Given the description of an element on the screen output the (x, y) to click on. 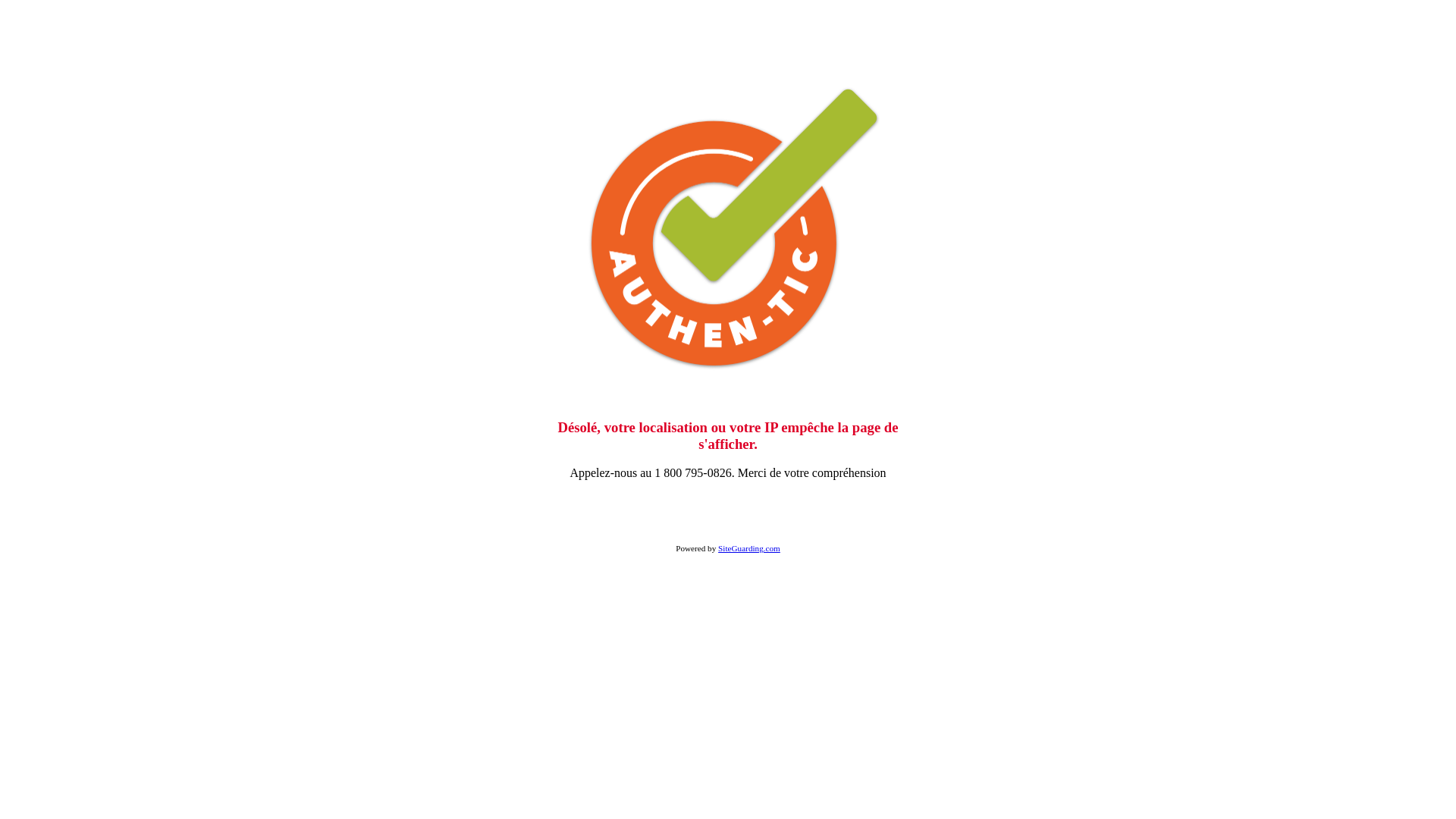
SiteGuarding.com Element type: text (749, 547)
